Given the description of an element on the screen output the (x, y) to click on. 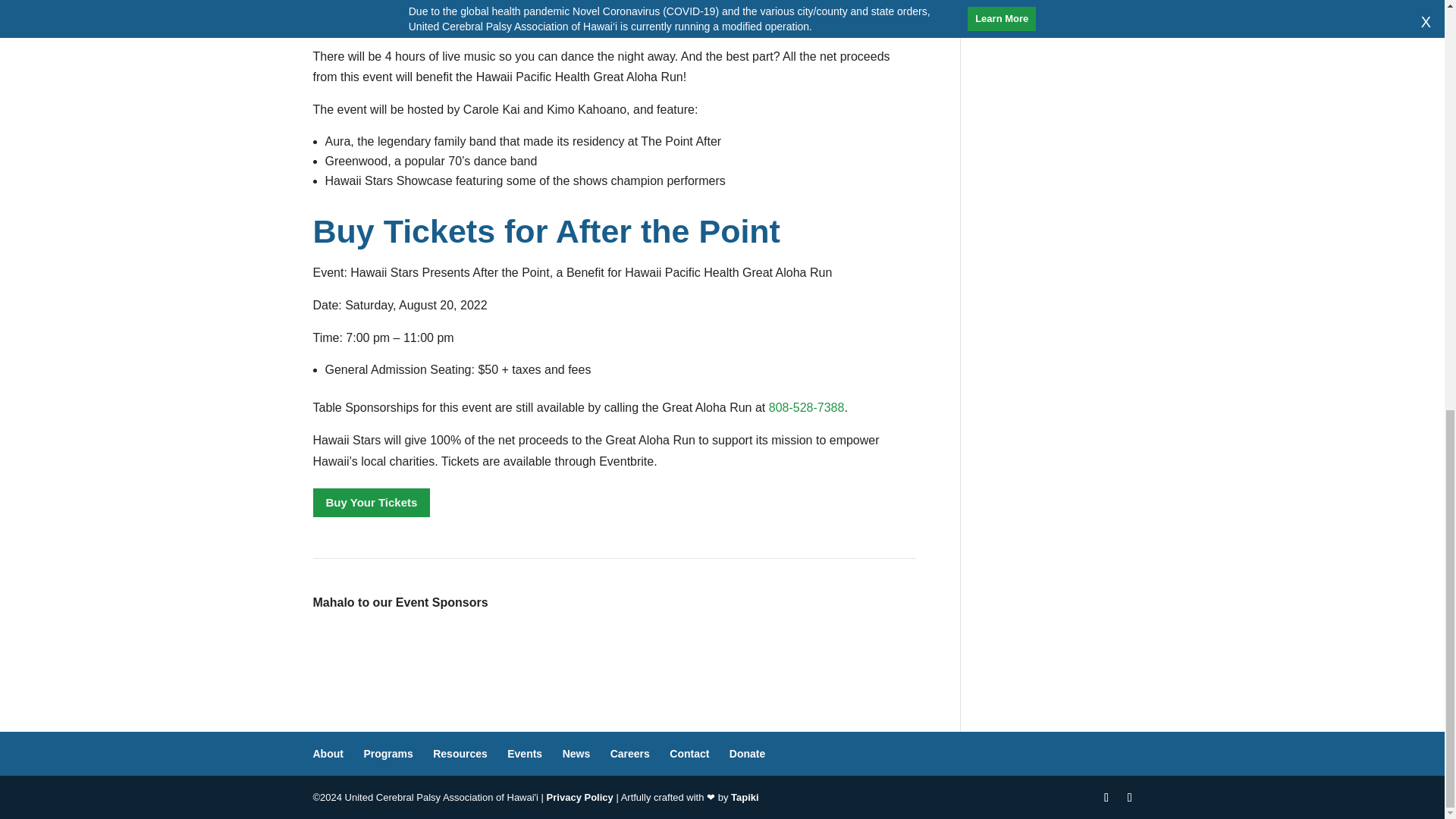
Buy Your Tickets (371, 502)
808-528-7388 (806, 407)
